Given the description of an element on the screen output the (x, y) to click on. 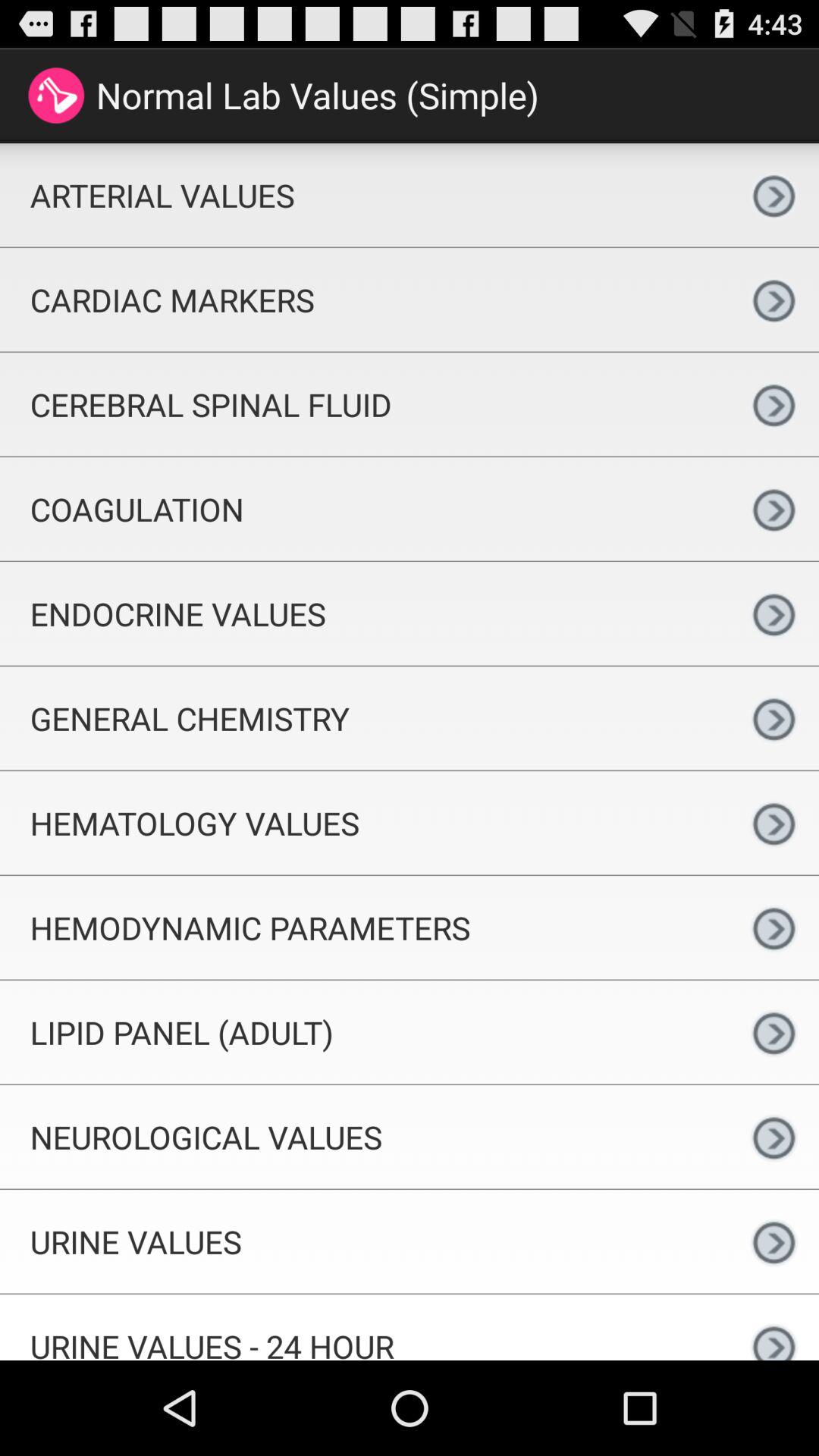
select lipid panel (adult) item (364, 1032)
